Given the description of an element on the screen output the (x, y) to click on. 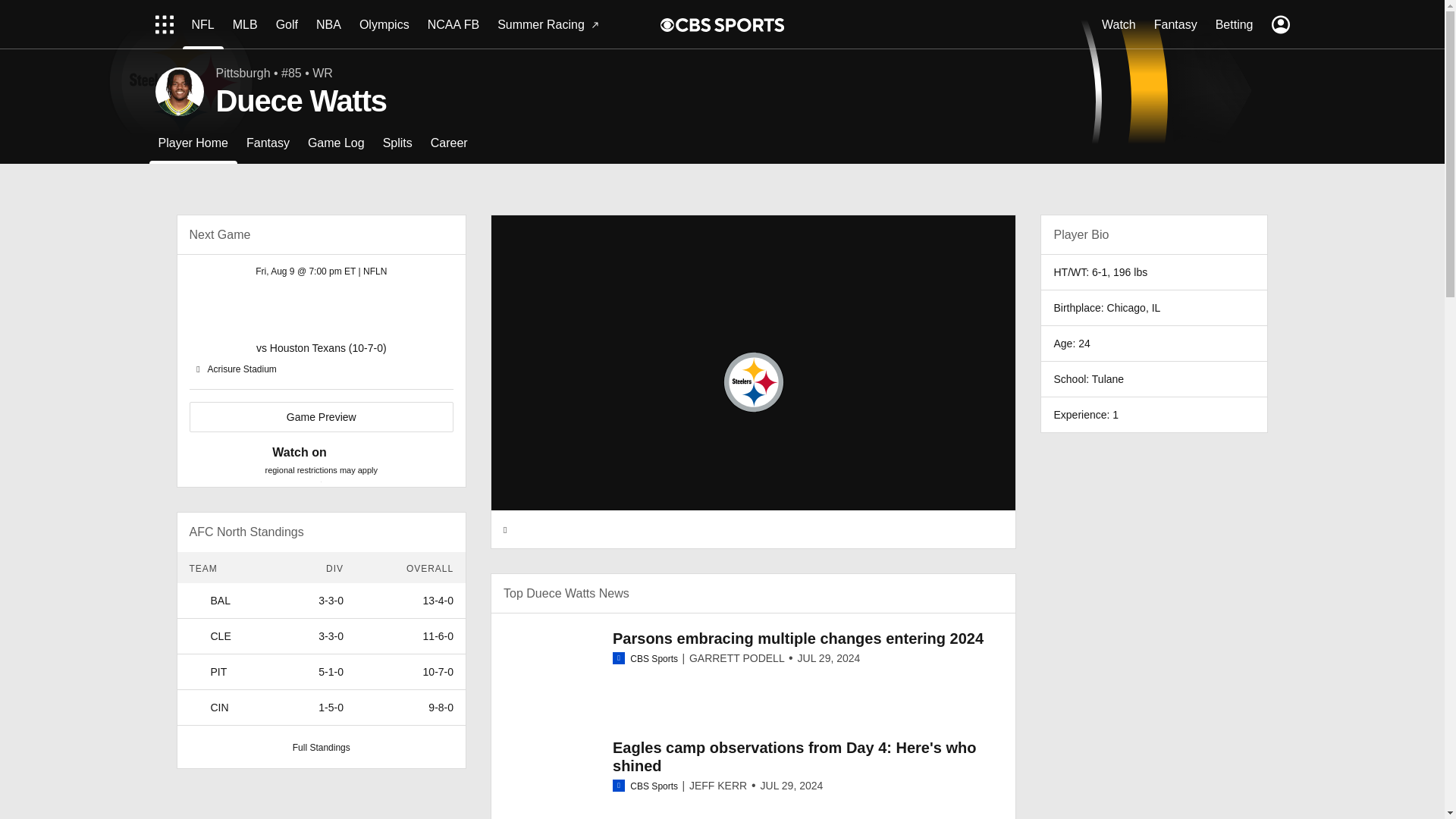
CBS Eye (667, 24)
CBS Logo (729, 24)
